Given the description of an element on the screen output the (x, y) to click on. 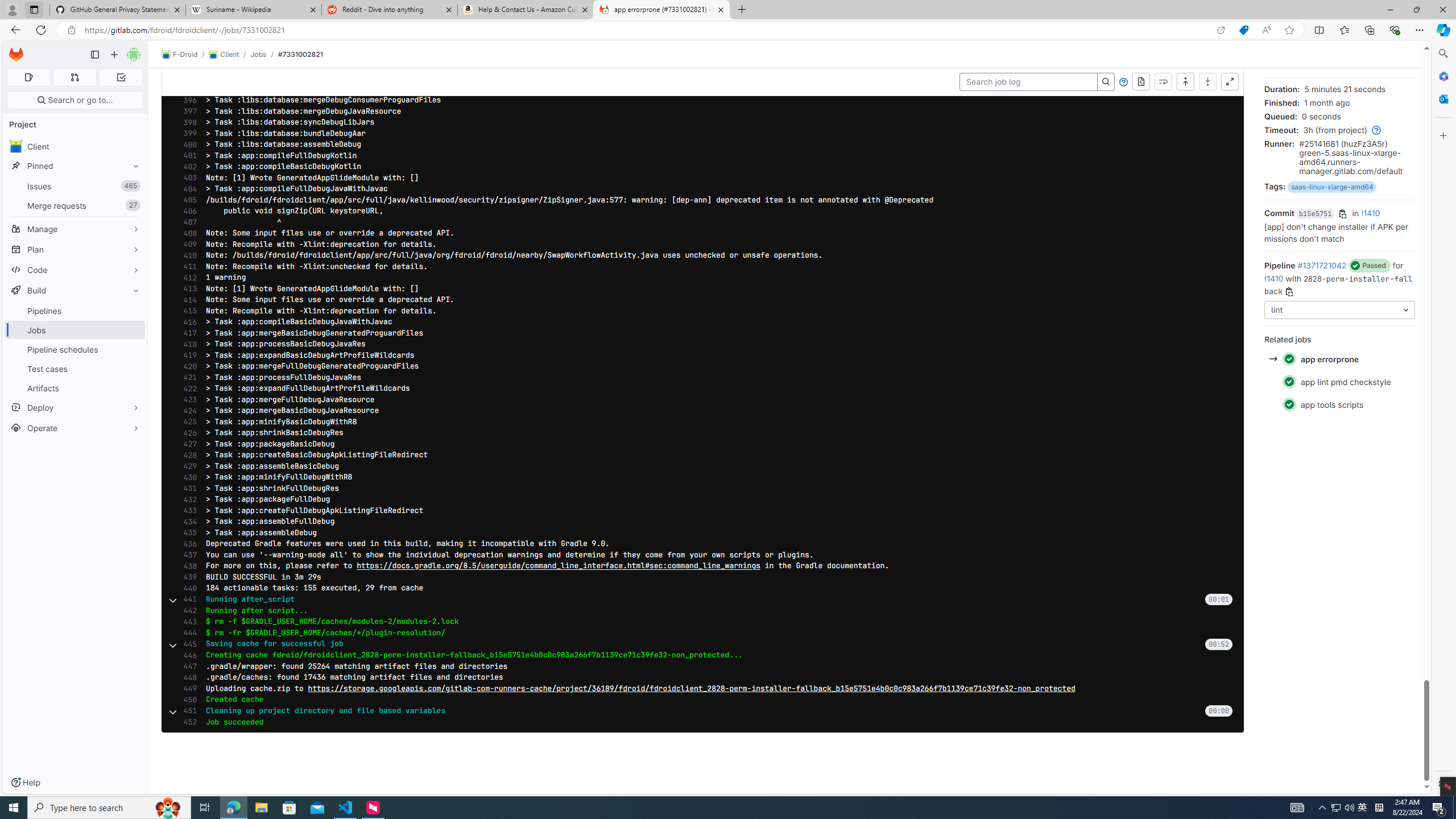
428 (186, 455)
Client (74, 145)
Pinned (74, 165)
439 (186, 577)
GitHub General Privacy Statement - GitHub Docs (117, 9)
